Given the description of an element on the screen output the (x, y) to click on. 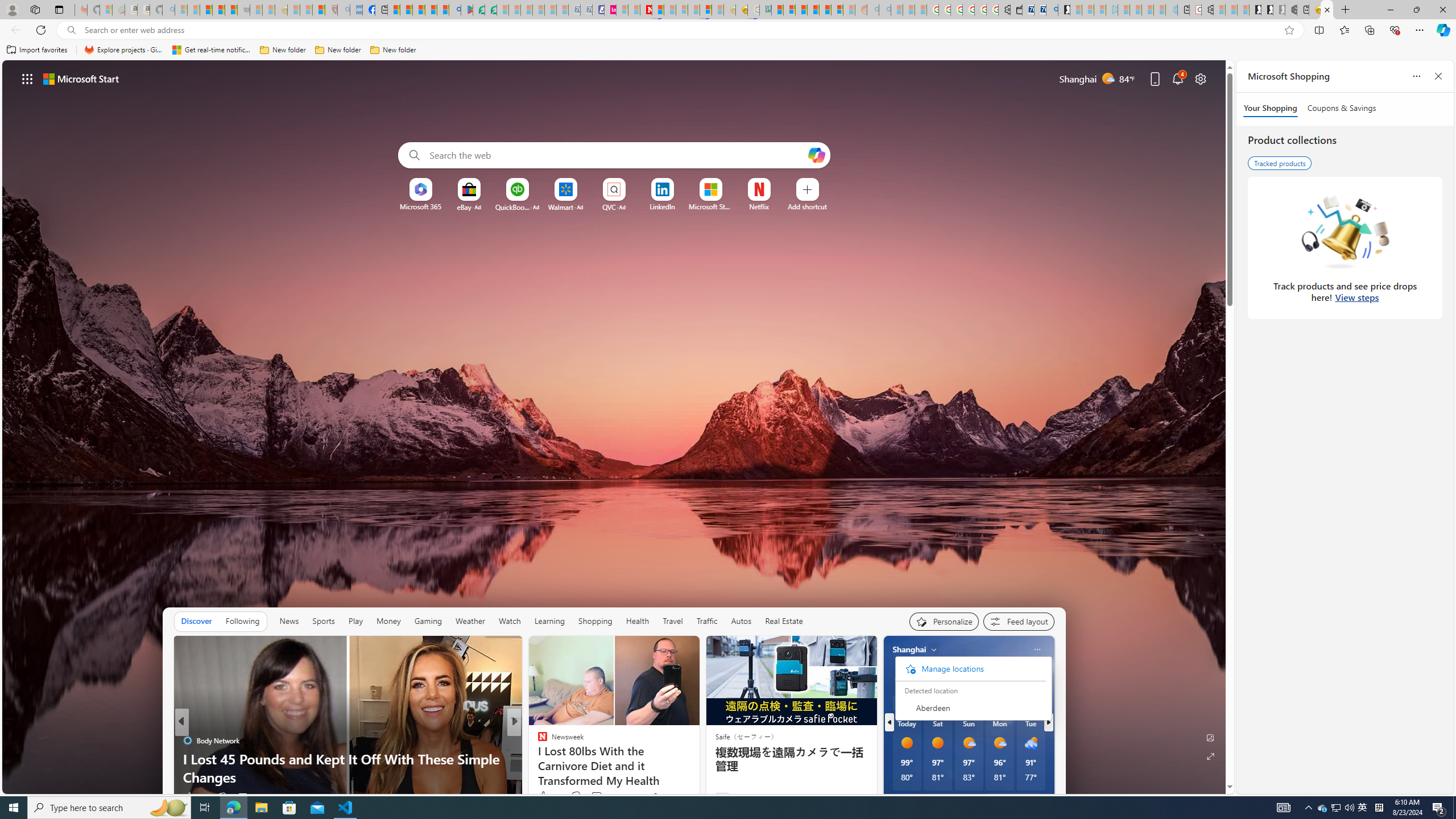
Travel (672, 621)
Pets - MSN (431, 9)
next (1047, 722)
App launcher (27, 78)
Money (387, 621)
Travel (672, 621)
